Given the description of an element on the screen output the (x, y) to click on. 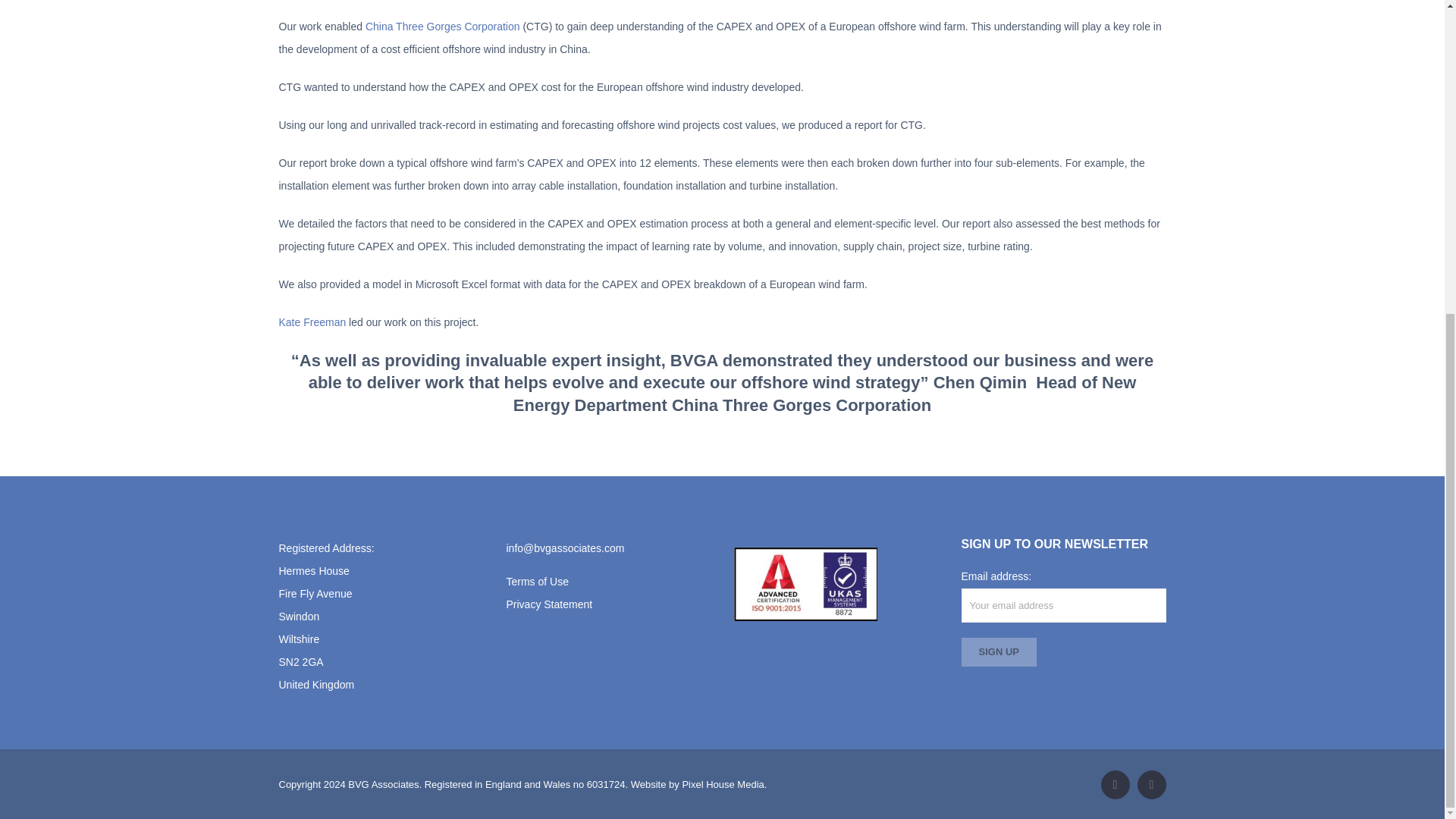
LinkedIn (1151, 784)
China Three Gorges Corporation (442, 26)
Sign up (998, 652)
Sign up (998, 652)
X (1114, 784)
Terms of Use (537, 581)
Website by Pixel House Media. (698, 784)
Kate Freeman (312, 322)
X (1114, 784)
LinkedIn (1151, 784)
